Given the description of an element on the screen output the (x, y) to click on. 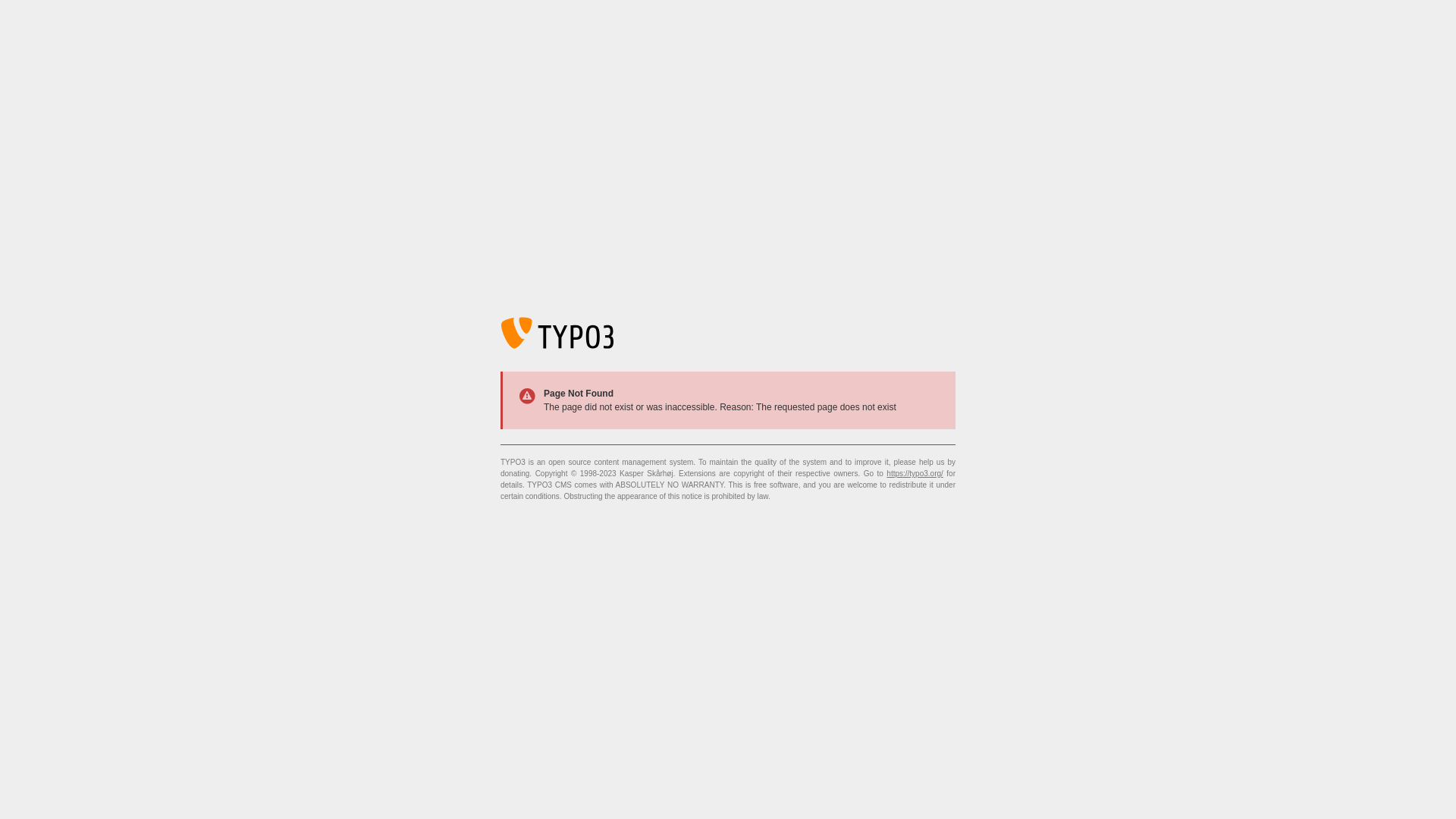
https://typo3.org/ Element type: text (914, 473)
